Given the description of an element on the screen output the (x, y) to click on. 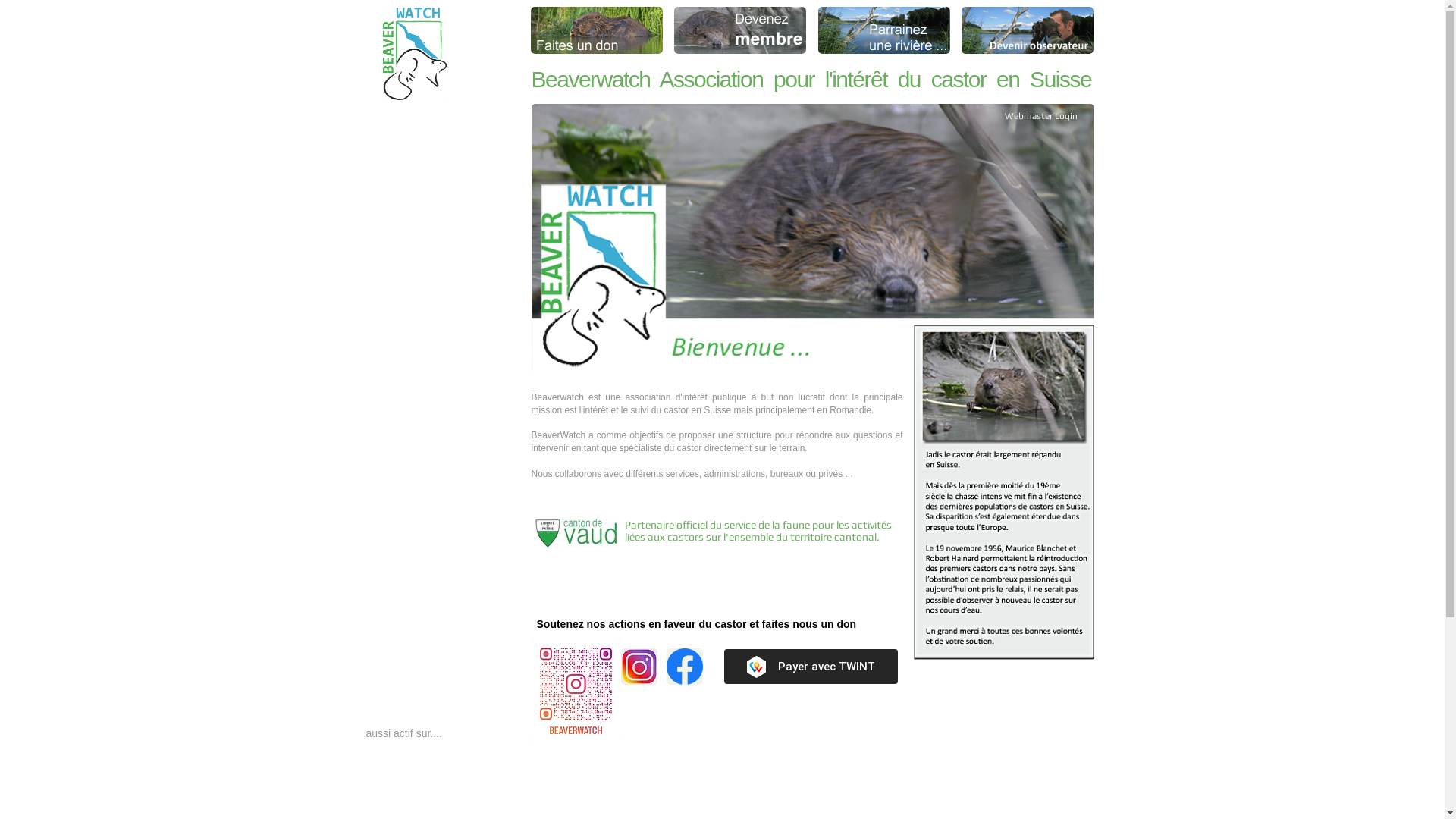
Beaverwatch Element type: hover (739, 29)
Beaverwatch Element type: hover (883, 29)
Webmaster Login Element type: text (1040, 115)
Beaverwatch Element type: hover (413, 53)
Beaverwatch Element type: hover (596, 29)
Beaverwatch Element type: hover (1002, 491)
Embedded Content Element type: hover (810, 666)
Beaverwatch Element type: hover (811, 237)
Beaverwatch Element type: hover (1027, 29)
